Given the description of an element on the screen output the (x, y) to click on. 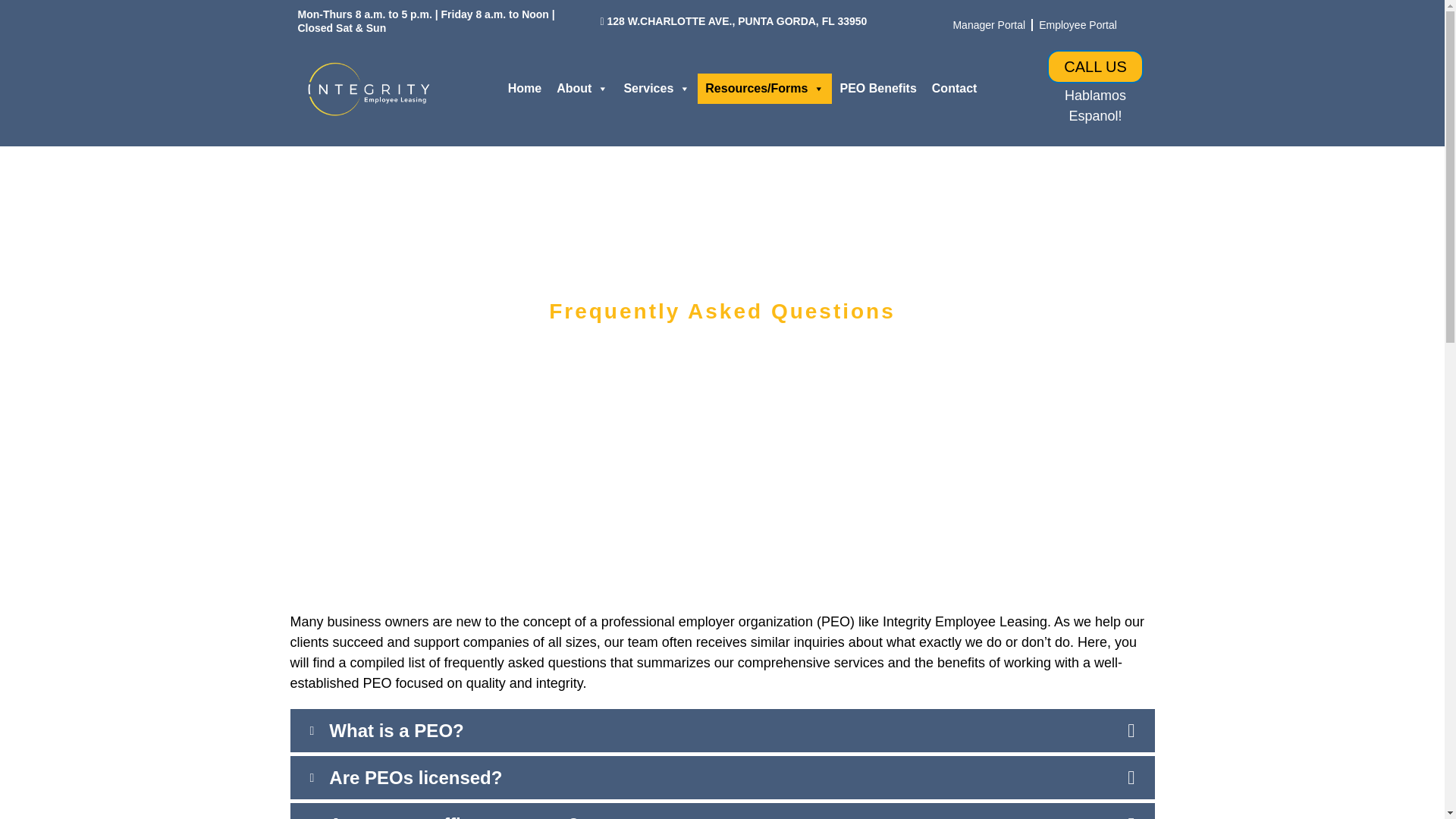
Contact (954, 88)
CALL US (1094, 66)
Services (656, 88)
PEO Benefits (877, 88)
128 W.CHARLOTTE AVE., PUNTA GORDA, FL 33950 (733, 21)
Employee Portal (1077, 24)
Home (524, 88)
About (581, 88)
Manager Portal (988, 24)
